Given the description of an element on the screen output the (x, y) to click on. 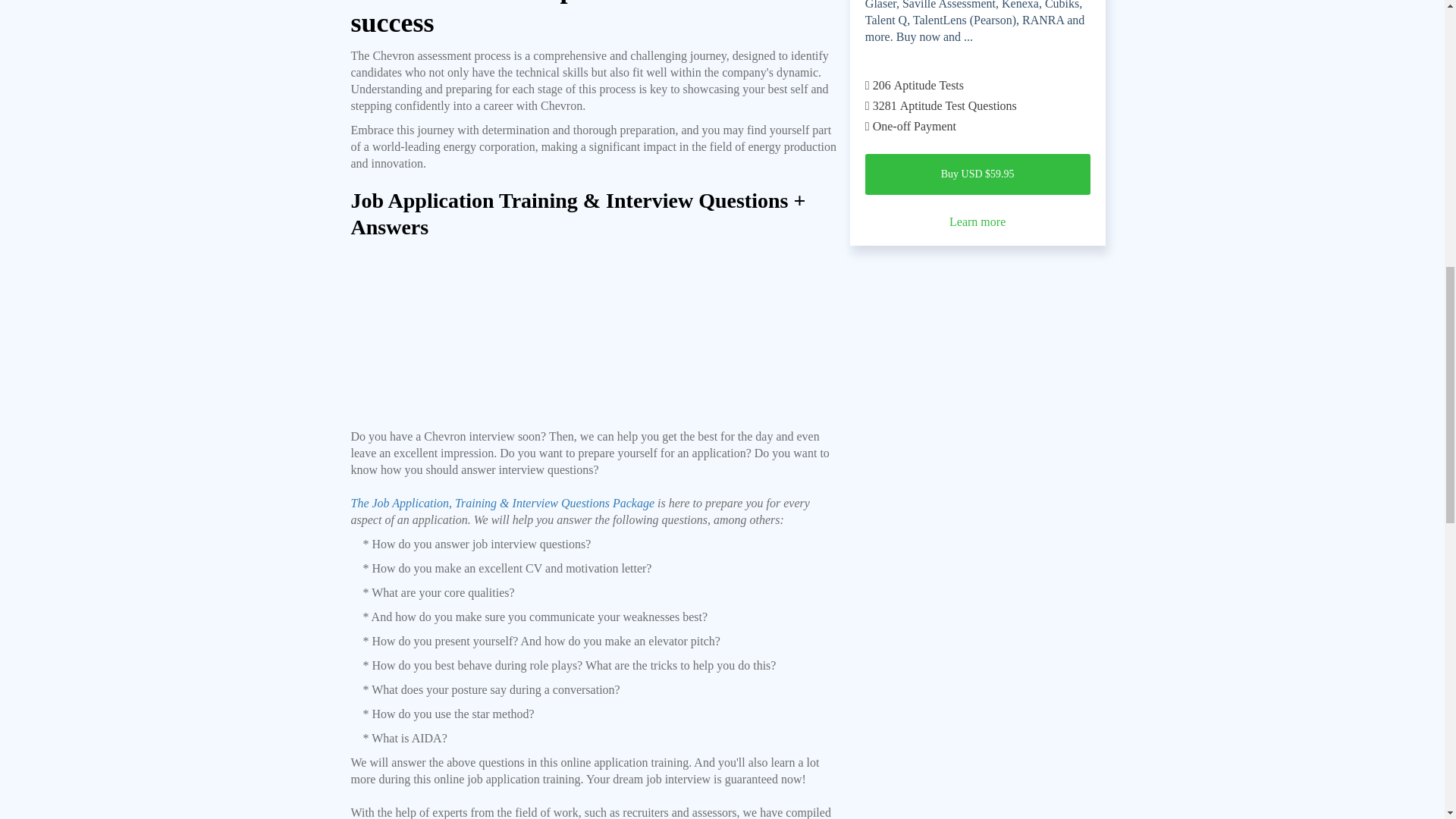
YouTube video player (594, 340)
